Given the description of an element on the screen output the (x, y) to click on. 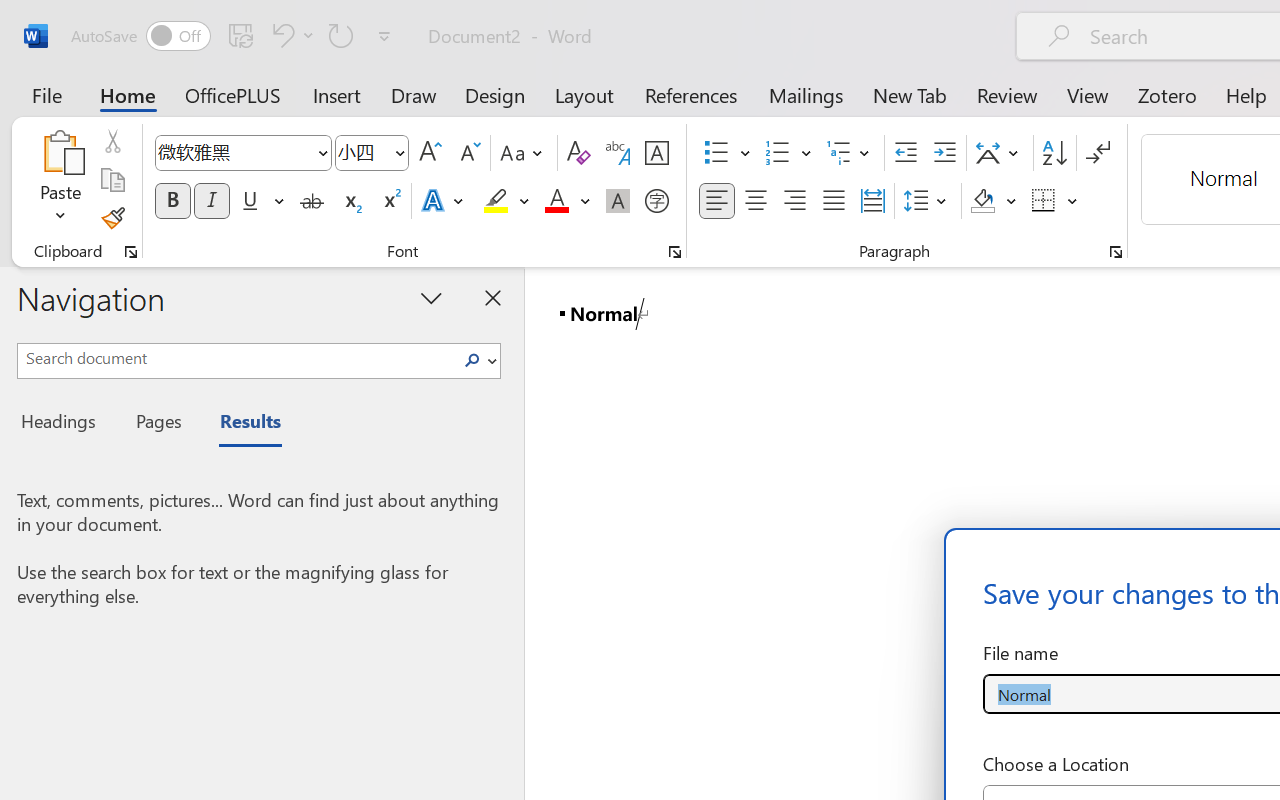
Office Clipboard... (131, 252)
Results (240, 424)
Font (242, 153)
Open (399, 152)
Text Effects and Typography (444, 201)
Search (478, 360)
References (690, 94)
Character Shading (618, 201)
Text Highlight Color Yellow (495, 201)
Shrink Font (468, 153)
Shading (993, 201)
Show/Hide Editing Marks (1098, 153)
Sort... (1054, 153)
